Given the description of an element on the screen output the (x, y) to click on. 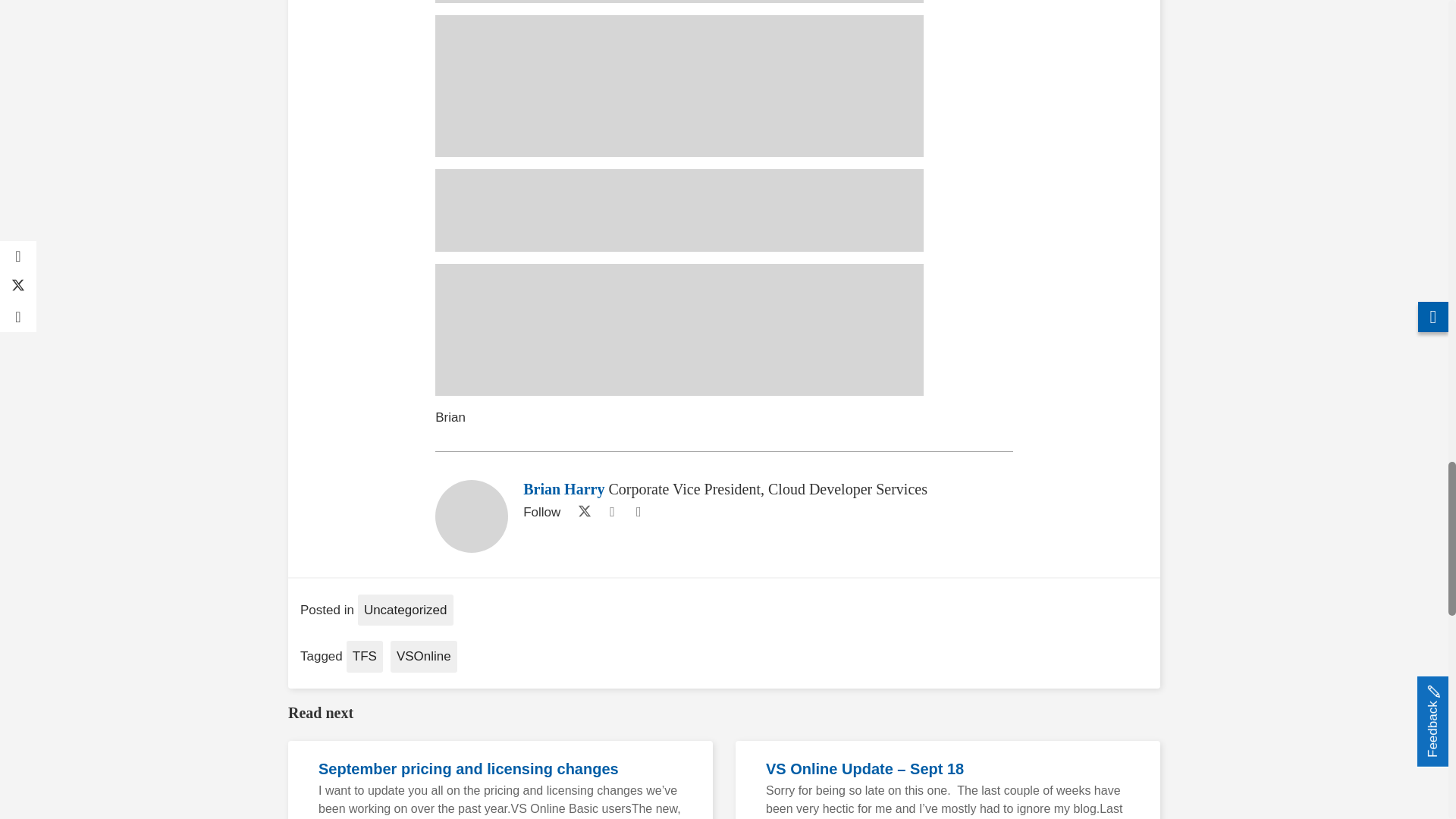
Website (611, 512)
Twitter (581, 512)
RSS Feed (637, 512)
